Given the description of an element on the screen output the (x, y) to click on. 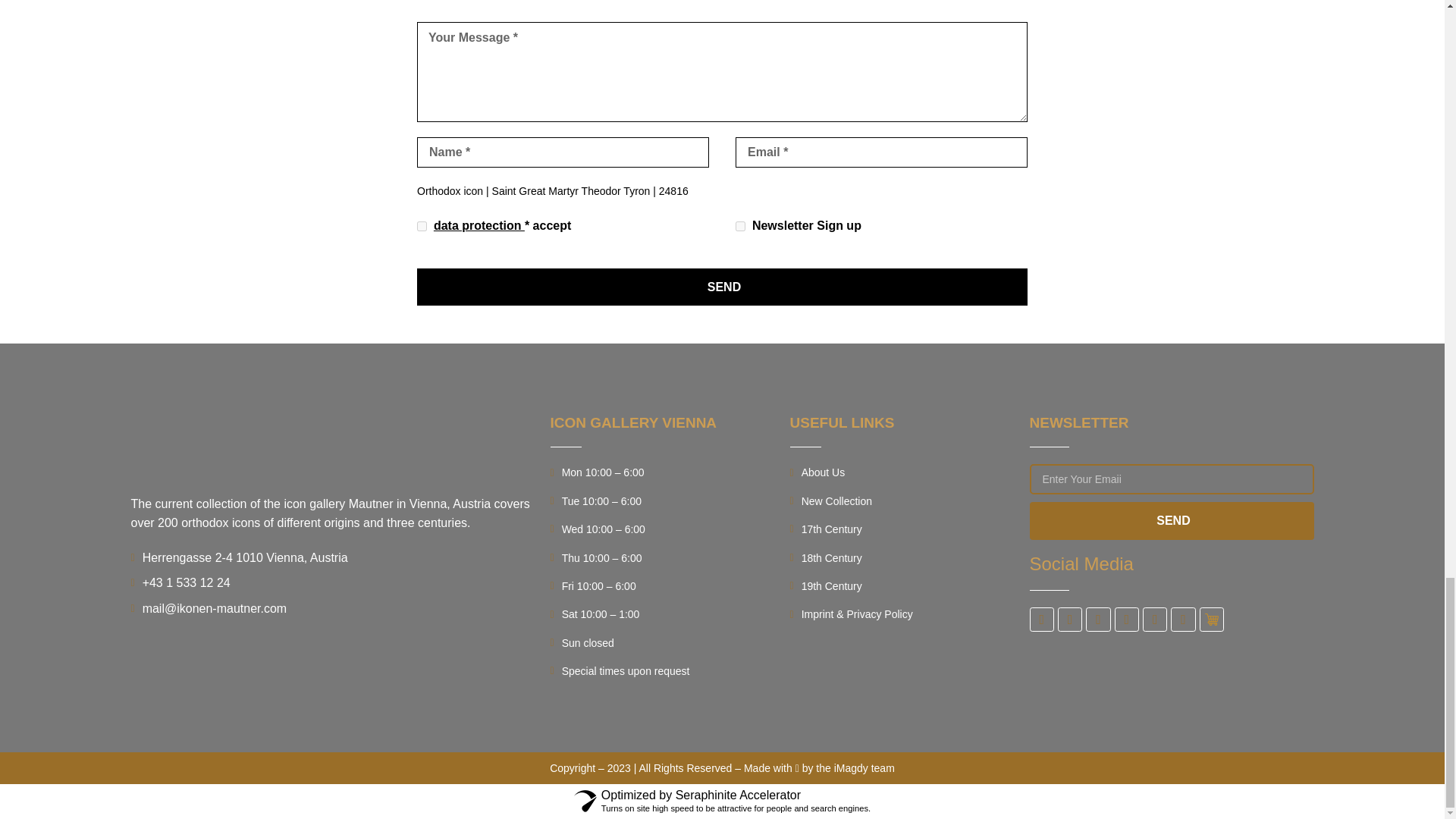
Newsletter Sign up (740, 225)
on (421, 225)
